Given the description of an element on the screen output the (x, y) to click on. 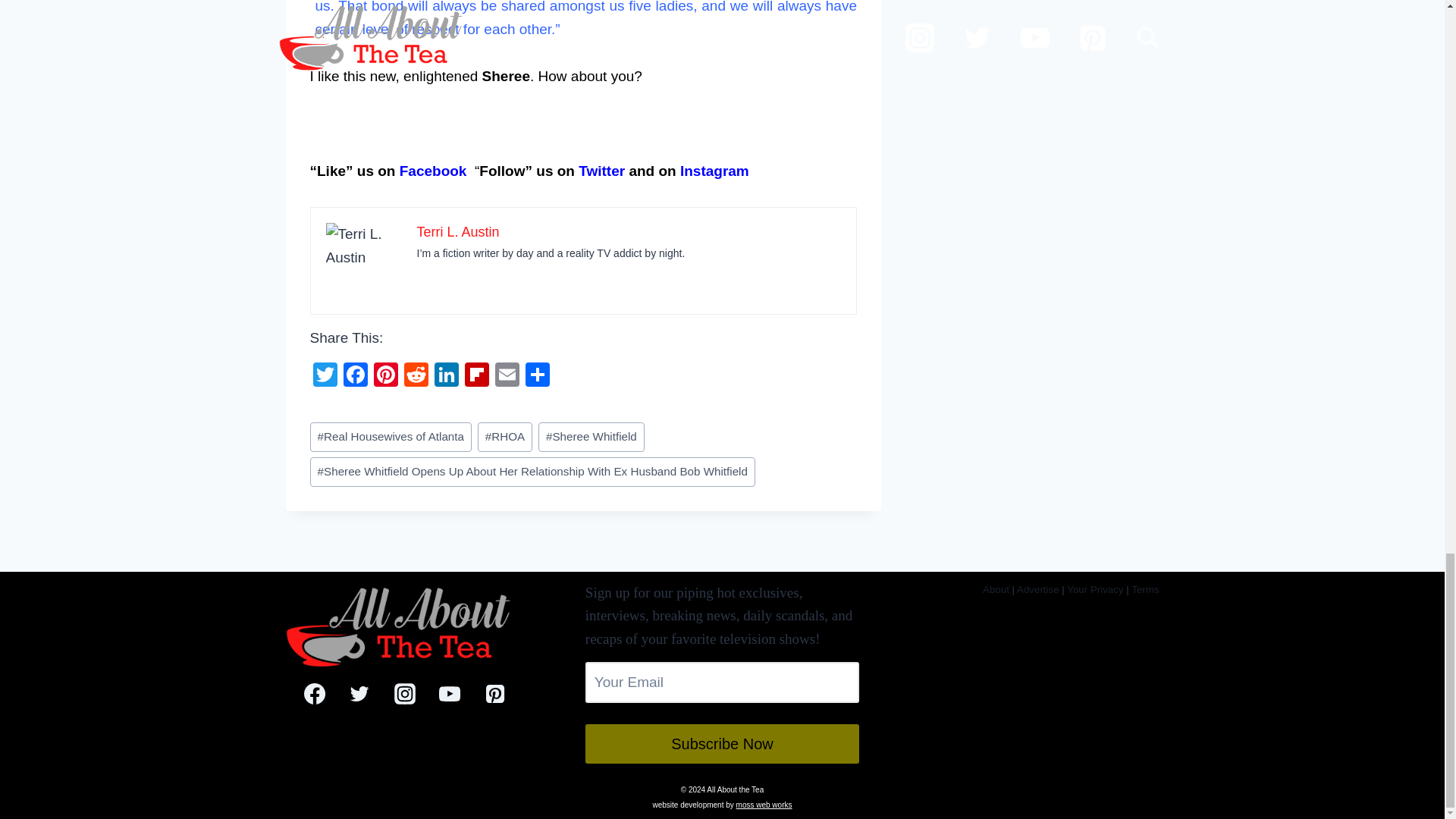
Reddit (415, 376)
Pinterest (384, 376)
Twitter (601, 170)
Twitter (323, 376)
Flipboard (476, 376)
Twitter (323, 376)
Facebook (354, 376)
LinkedIn (445, 376)
Terri L. Austin (457, 231)
Facebook (432, 170)
Instagram (714, 170)
